Given the description of an element on the screen output the (x, y) to click on. 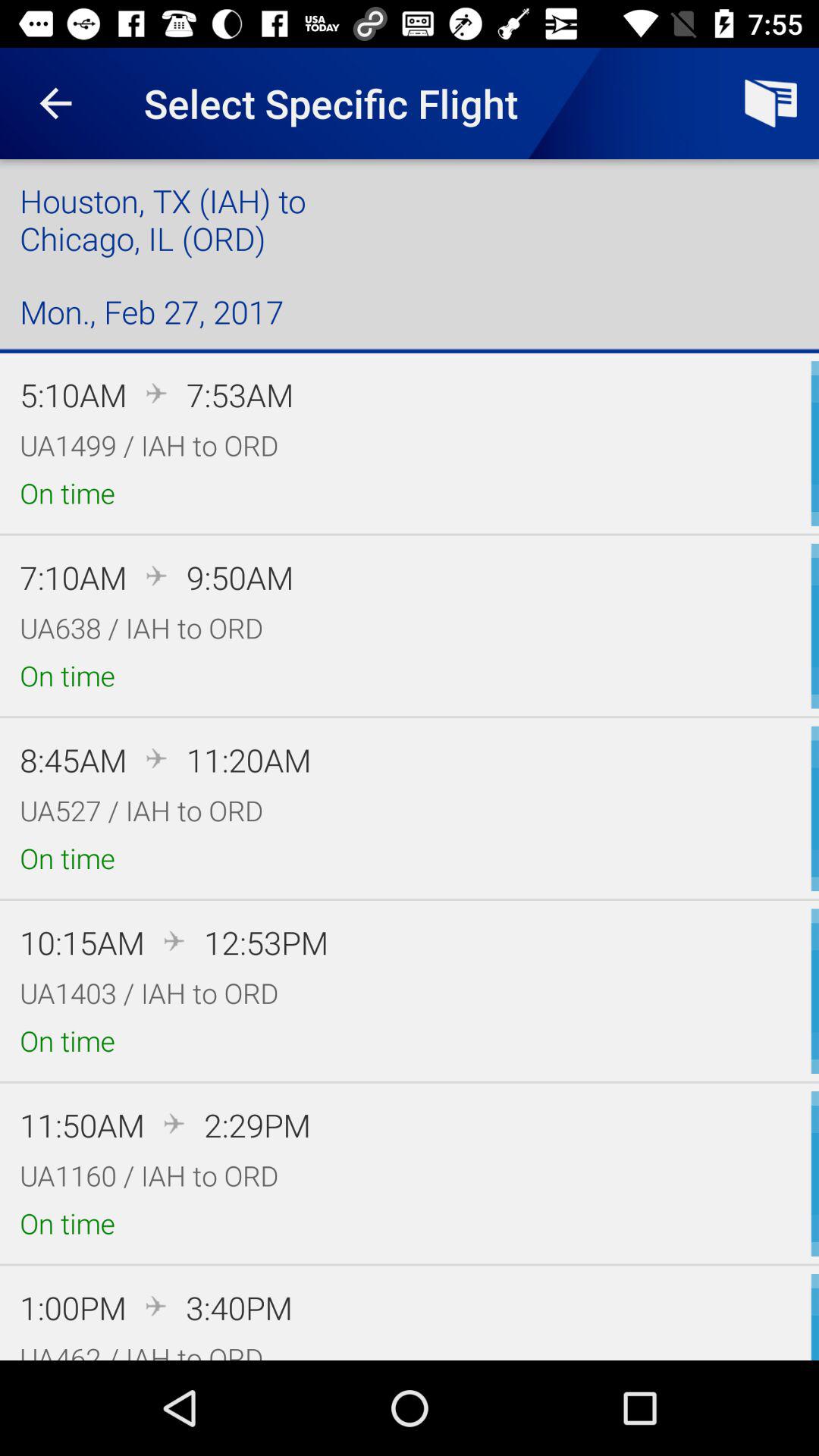
launch item below the 7:10am (141, 627)
